Given the description of an element on the screen output the (x, y) to click on. 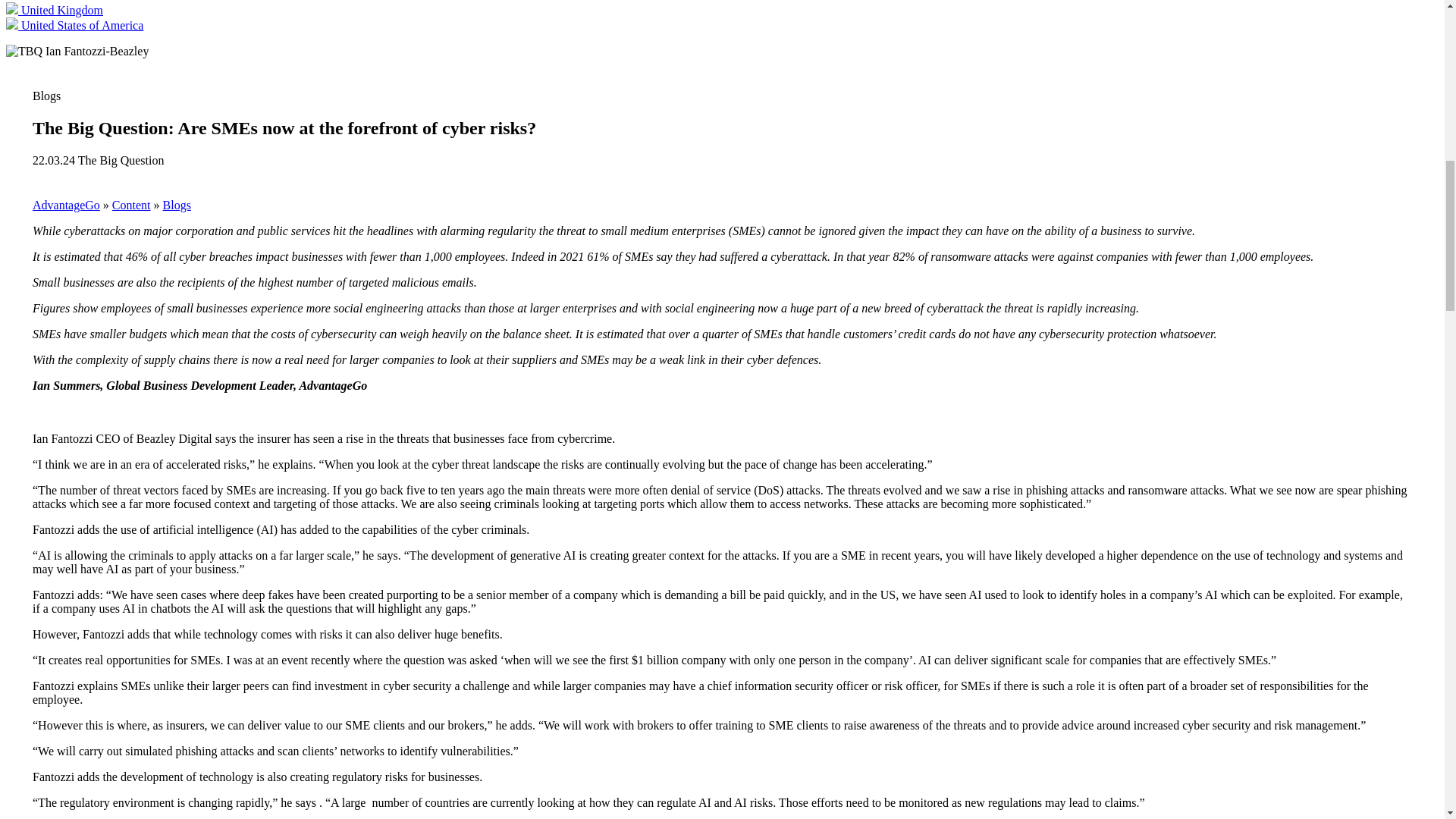
United Kingdom (54, 10)
Content (131, 205)
Blogs (176, 205)
AdvantageGo (66, 205)
United States of America (73, 24)
